Given the description of an element on the screen output the (x, y) to click on. 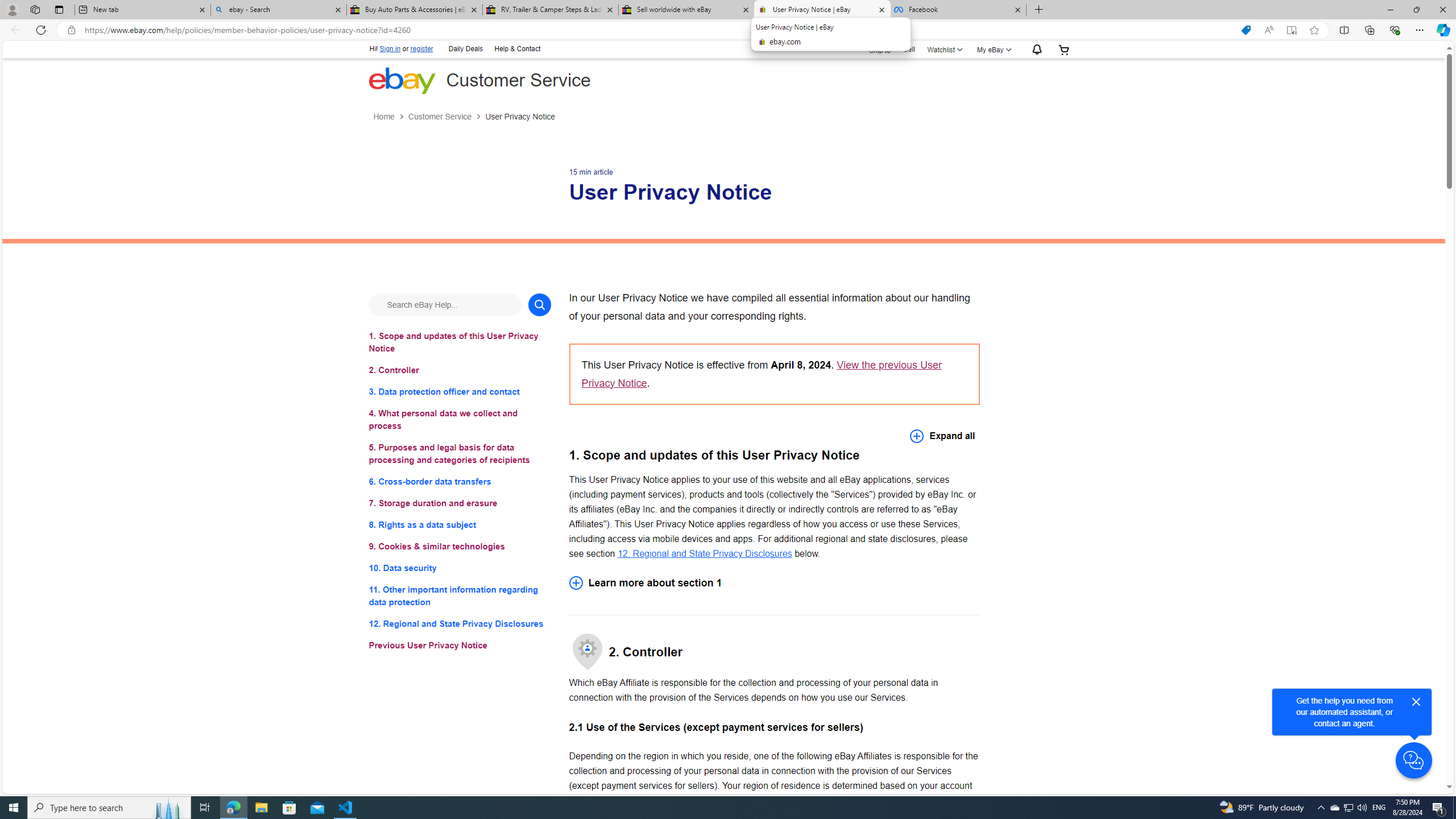
9. Cookies & similar technologies (459, 546)
User Privacy Notice (520, 117)
2. Controller (459, 369)
Home (389, 117)
Watchlist (943, 49)
7. Storage duration and erasure (459, 503)
Your shopping cart (1064, 49)
